Given the description of an element on the screen output the (x, y) to click on. 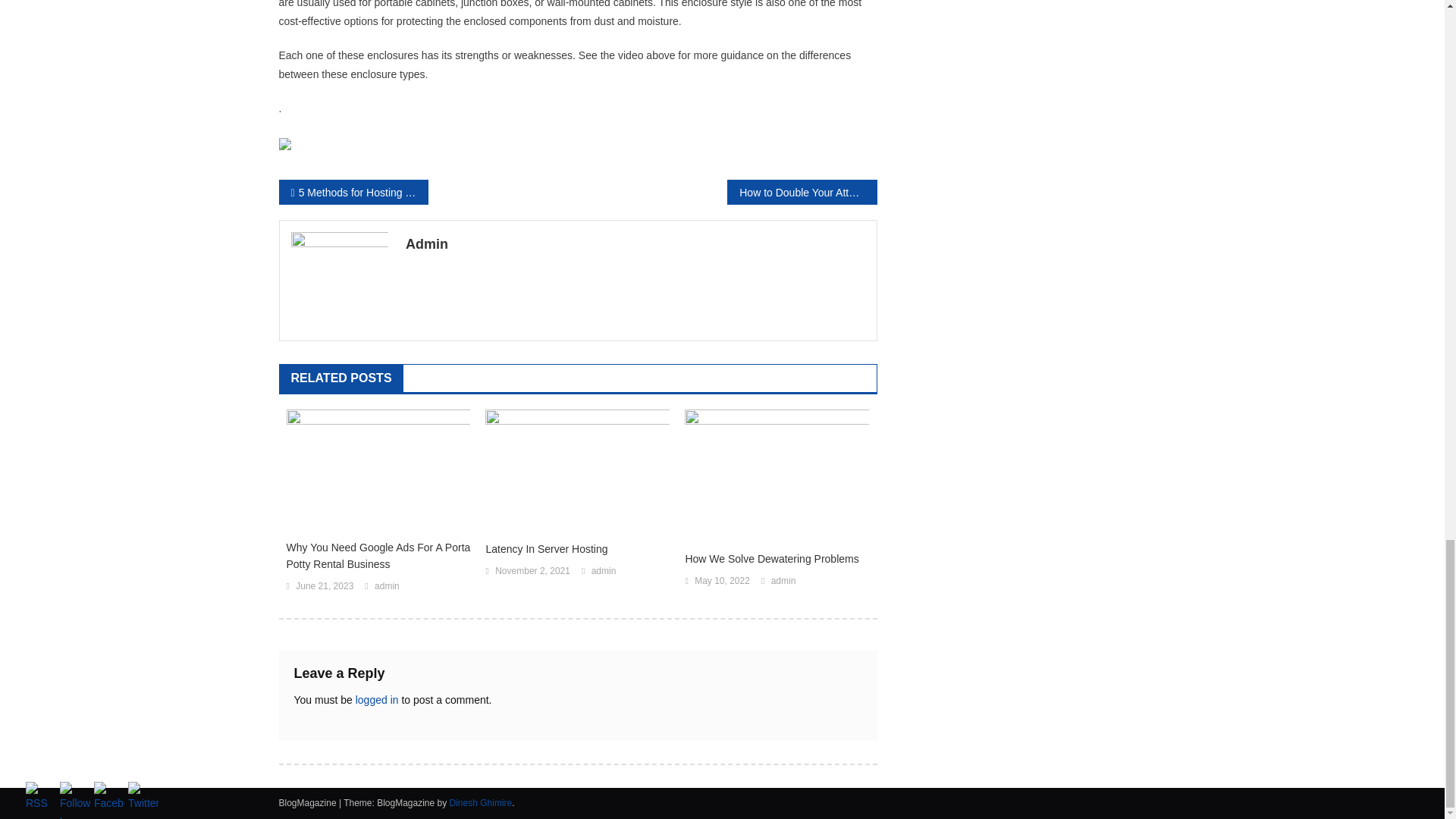
How We Solve Dewatering Problems (776, 558)
admin (783, 581)
RSS (41, 797)
admin (386, 586)
admin (603, 571)
5 Methods for Hosting Your Own Minecraft Servers (353, 191)
June 21, 2023 (324, 586)
logged in (376, 699)
Twitter (143, 797)
Latency In Server Hosting (576, 548)
Why You Need Google Ads For A Porta Potty Rental Business (378, 555)
How to Double Your Attorney SEO Traffic (801, 191)
May 10, 2022 (721, 581)
November 2, 2021 (532, 571)
Facebook (108, 797)
